Given the description of an element on the screen output the (x, y) to click on. 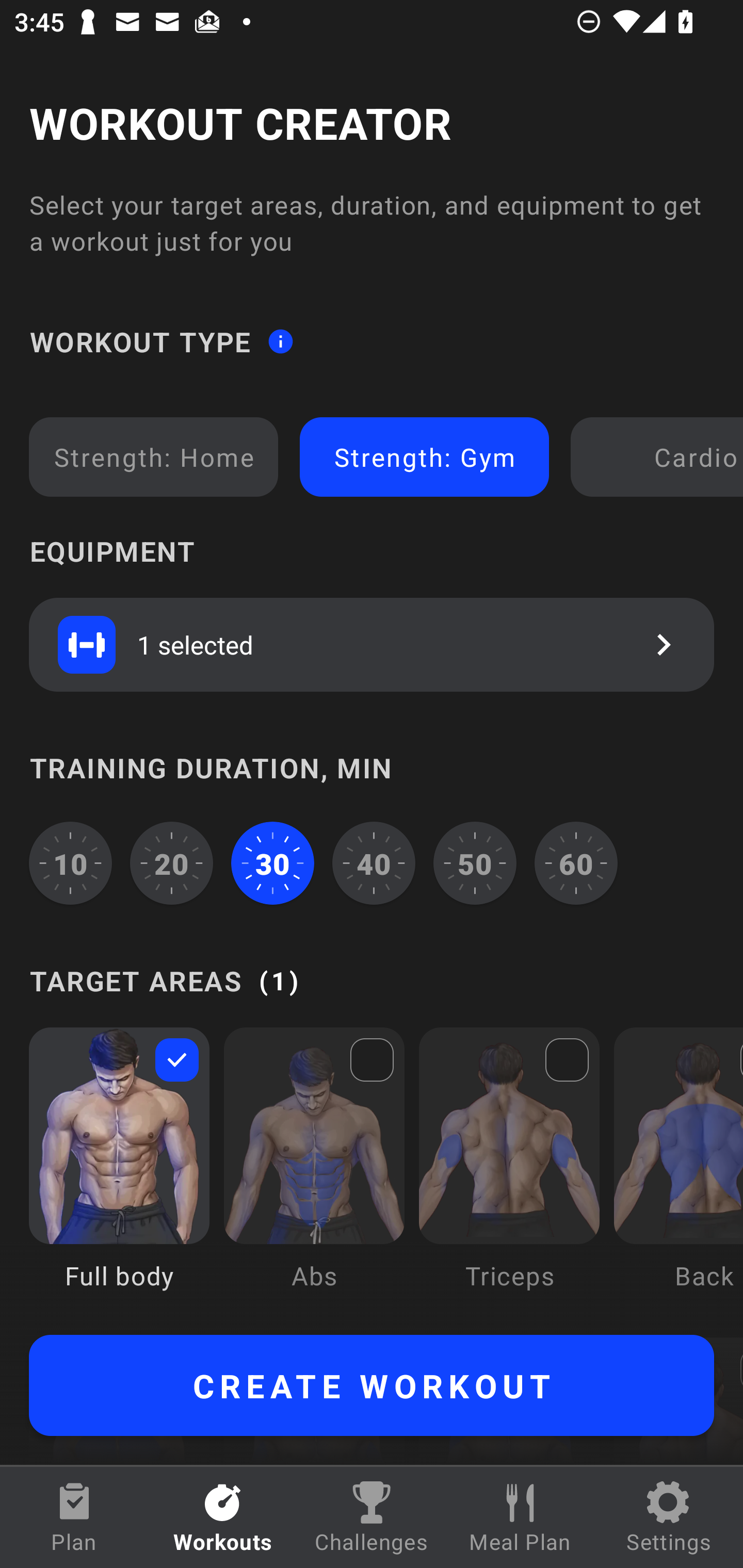
Workout type information button (280, 340)
Strength: Home (153, 457)
Cardio (660, 457)
1 selected (371, 644)
10 (70, 863)
20 (171, 863)
30 (272, 863)
40 (373, 863)
50 (474, 863)
60 (575, 863)
Abs (313, 1172)
Triceps (509, 1172)
Back (678, 1172)
CREATE WORKOUT (371, 1385)
 Plan  (74, 1517)
 Challenges  (371, 1517)
 Meal Plan  (519, 1517)
 Settings  (668, 1517)
